Given the description of an element on the screen output the (x, y) to click on. 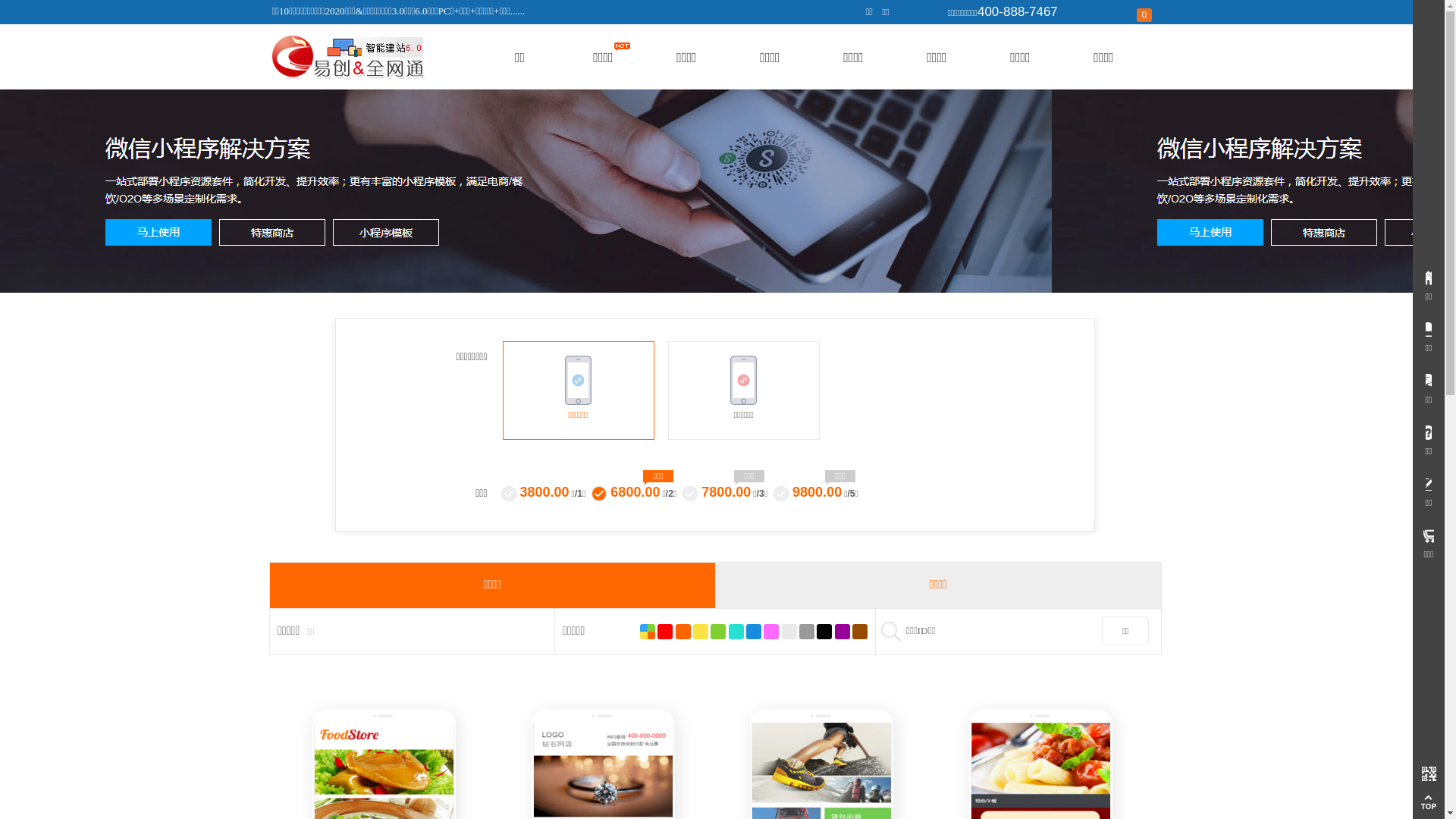
0 Element type: text (842, 631)
0 Element type: text (770, 631)
0 Element type: text (682, 631)
0 Element type: text (789, 631)
0 Element type: text (717, 631)
  Element type: text (1428, 773)
0 Element type: text (859, 631)
0 Element type: text (806, 631)
0 Element type: text (647, 631)
0 Element type: text (700, 631)
0 Element type: text (735, 631)
0 Element type: text (823, 631)
0 Element type: text (664, 631)
0 Element type: text (1138, 14)
0 Element type: text (753, 631)
